Given the description of an element on the screen output the (x, y) to click on. 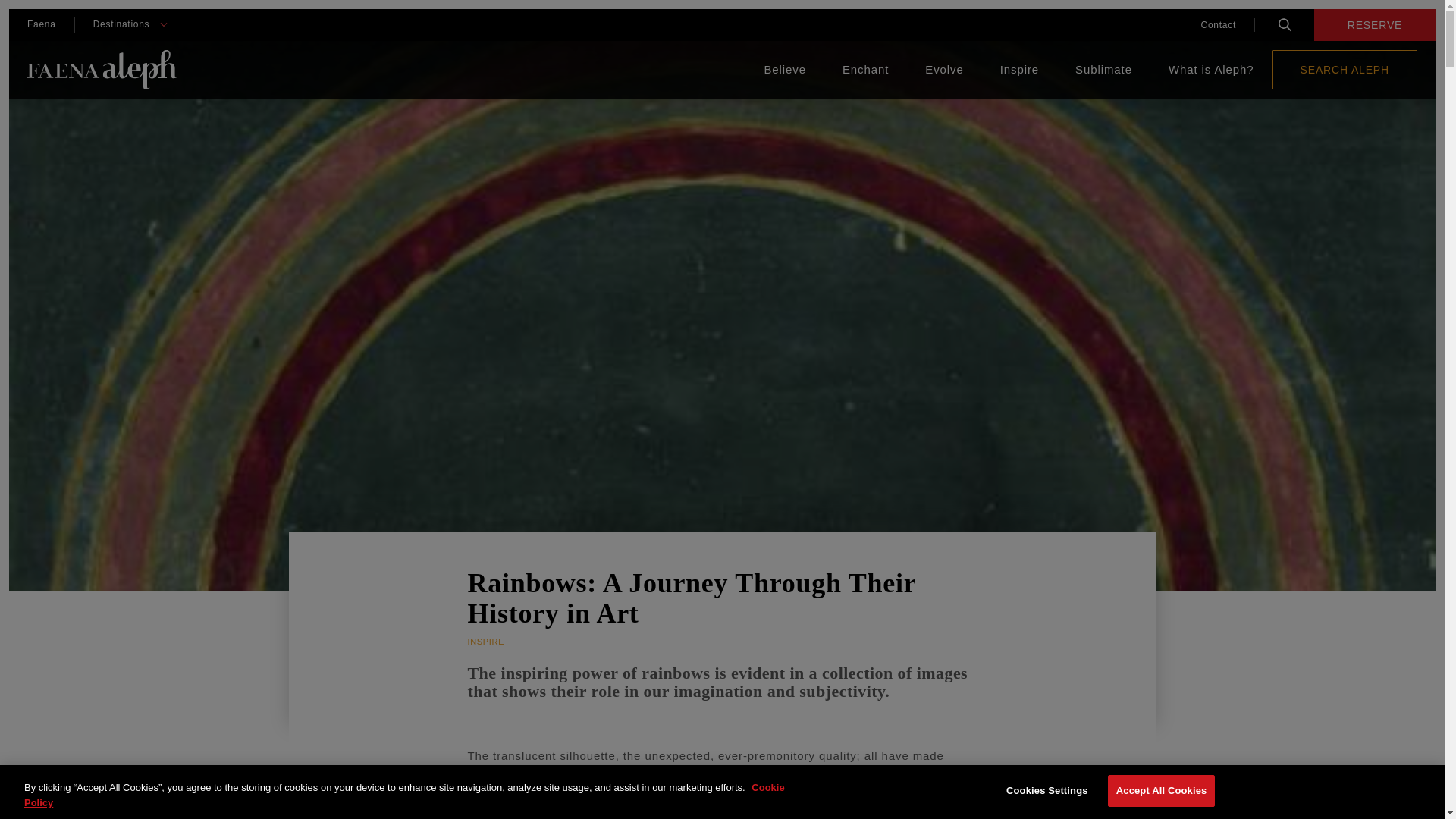
Sublimate (1103, 69)
Enchant (865, 69)
SEARCH ALEPH (1344, 69)
Evolve (943, 69)
Contact (1217, 24)
Destinations (121, 23)
Believe (784, 69)
Inspire (1019, 69)
What is Aleph? (1211, 69)
Search (1284, 24)
Faena (41, 23)
